Given the description of an element on the screen output the (x, y) to click on. 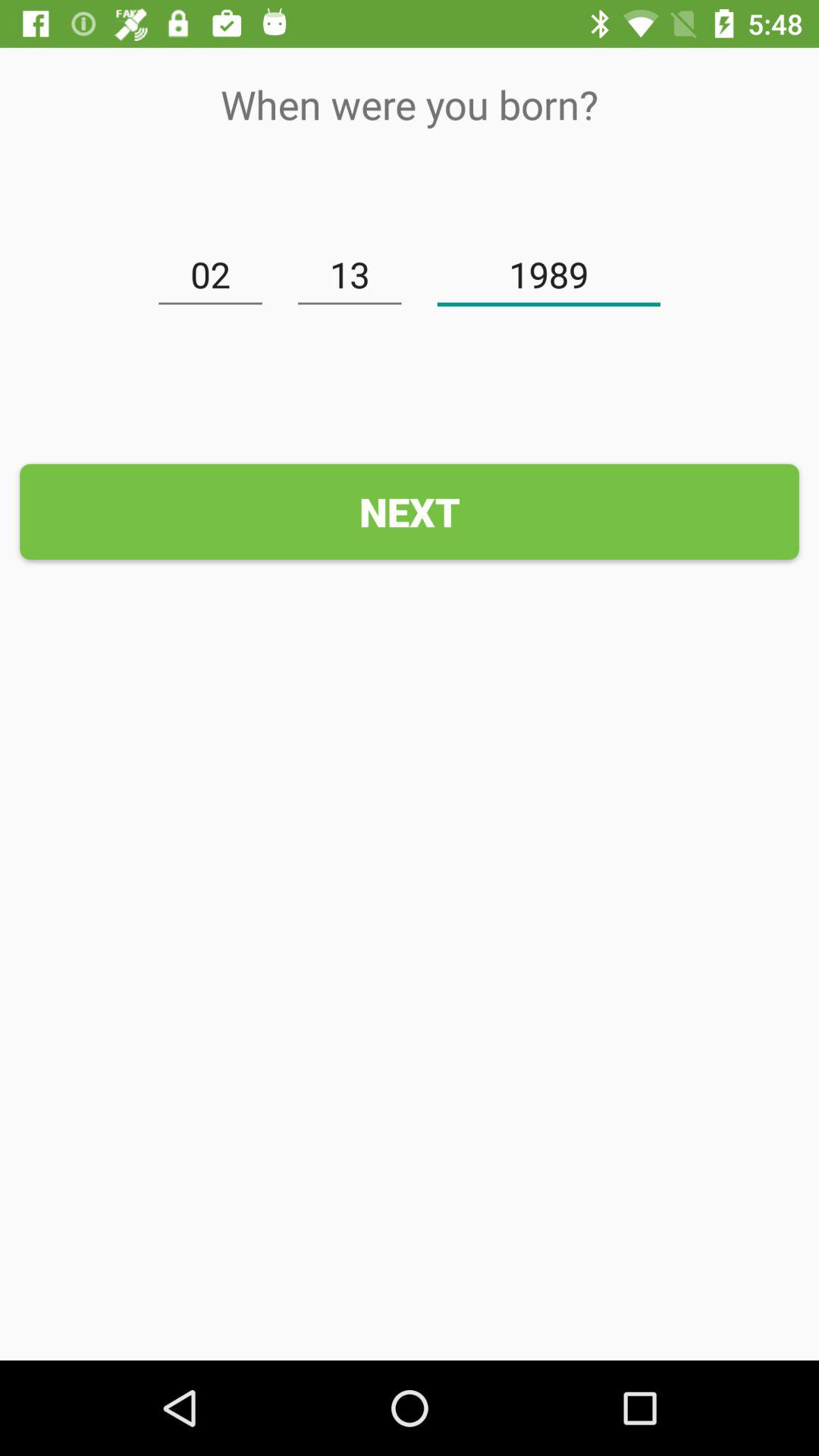
turn off item below the when were you item (349, 275)
